Given the description of an element on the screen output the (x, y) to click on. 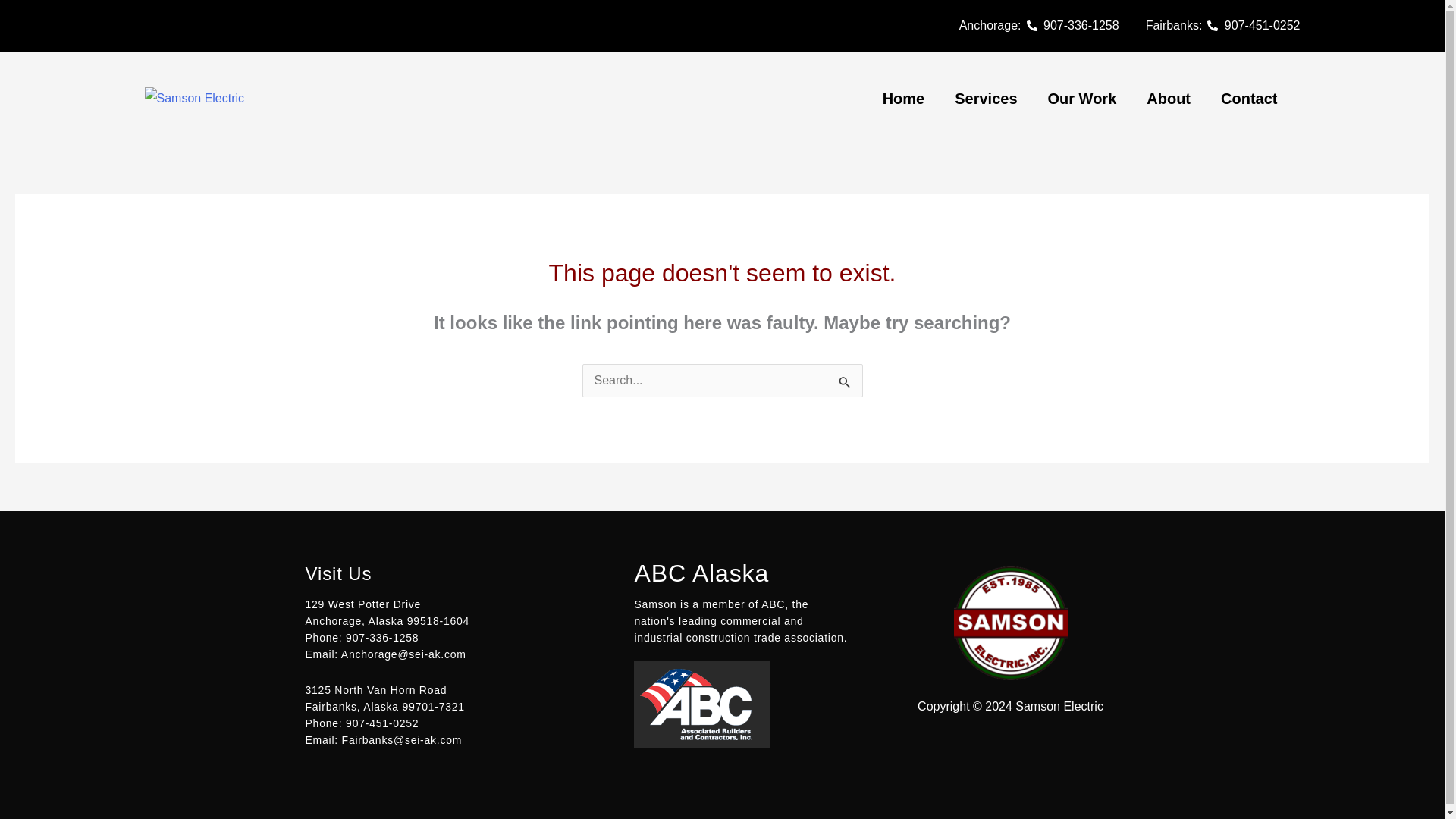
Contact (1248, 98)
907-336-1258 (1072, 25)
cropped-samson-logo.png (194, 97)
Our Work (1082, 98)
Services (985, 98)
Home (903, 98)
907-451-0252 (1253, 25)
About (1168, 98)
